Given the description of an element on the screen output the (x, y) to click on. 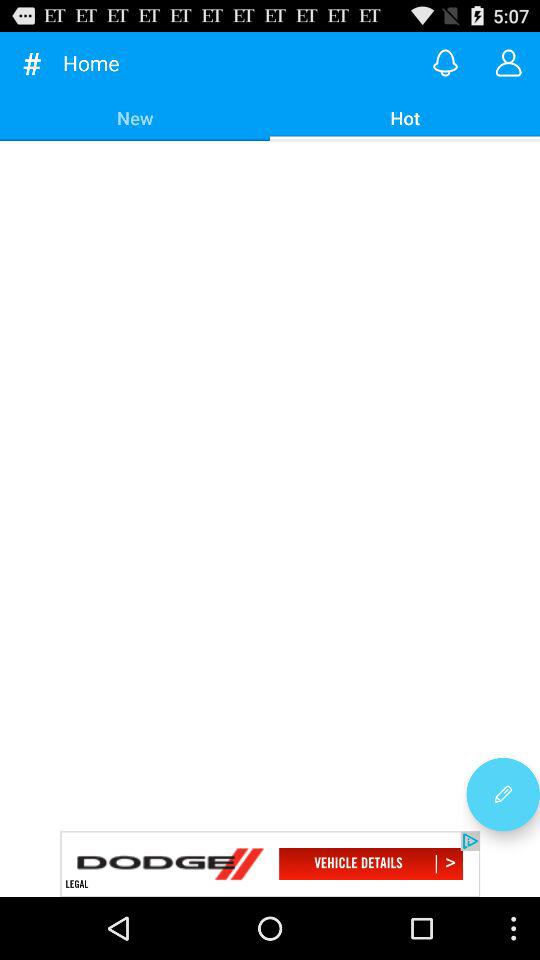
click the profile option (508, 62)
